Given the description of an element on the screen output the (x, y) to click on. 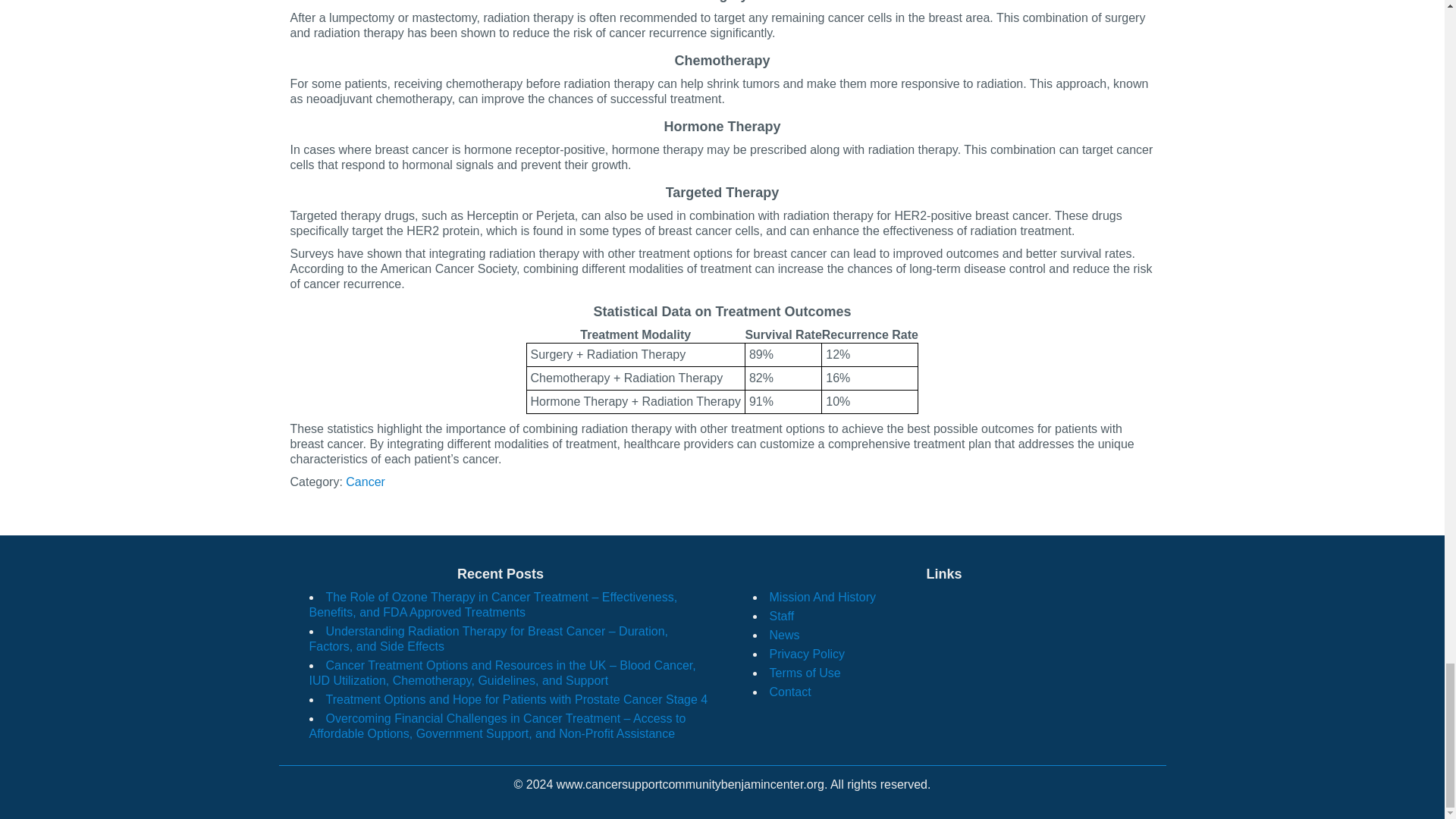
Mission And History (822, 596)
Staff (780, 615)
Cancer (365, 481)
